Given the description of an element on the screen output the (x, y) to click on. 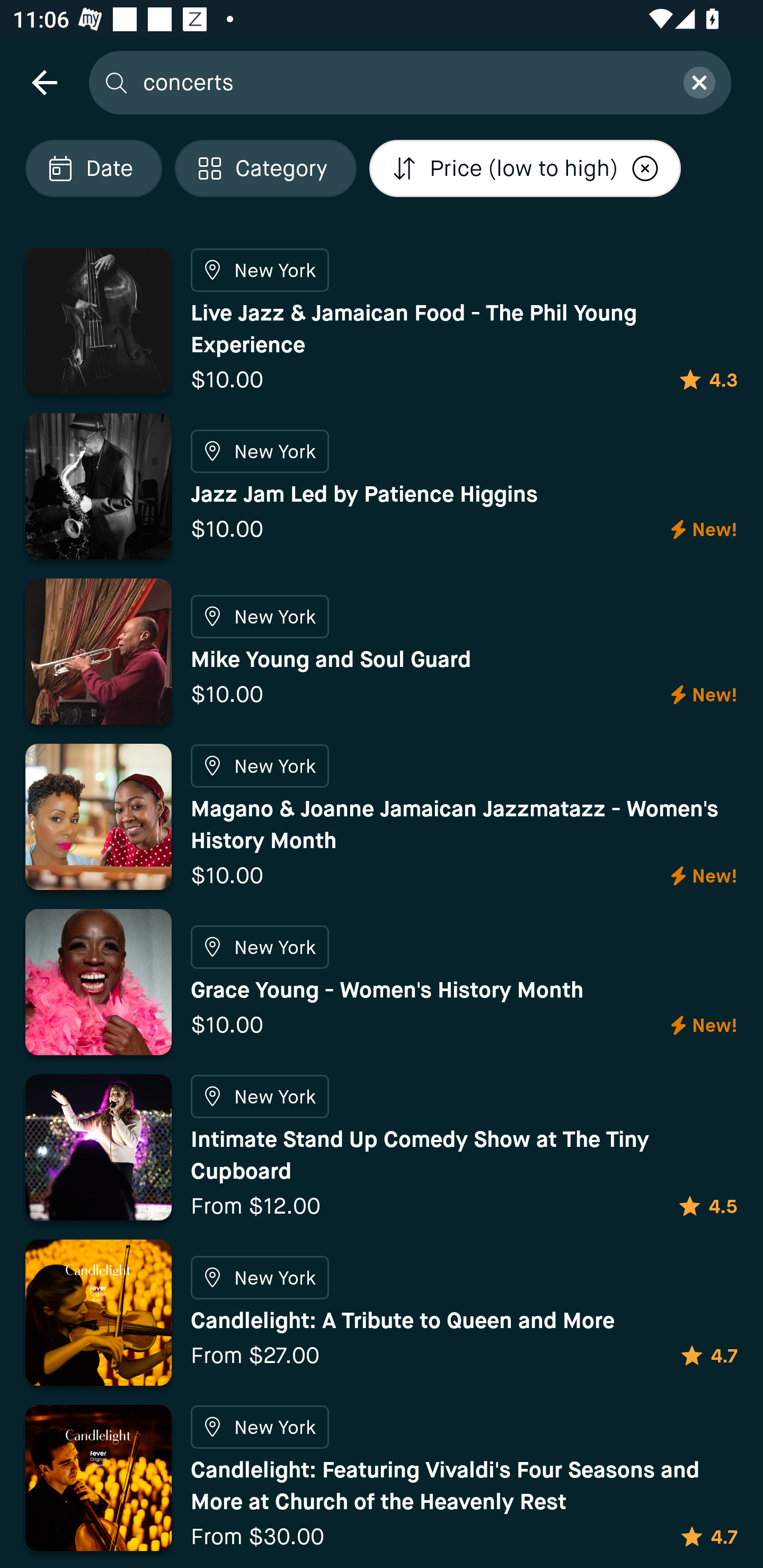
navigation icon (44, 81)
concerts (402, 81)
Localized description Date (93, 168)
Localized description Category (265, 168)
Localized description (645, 168)
